Given the description of an element on the screen output the (x, y) to click on. 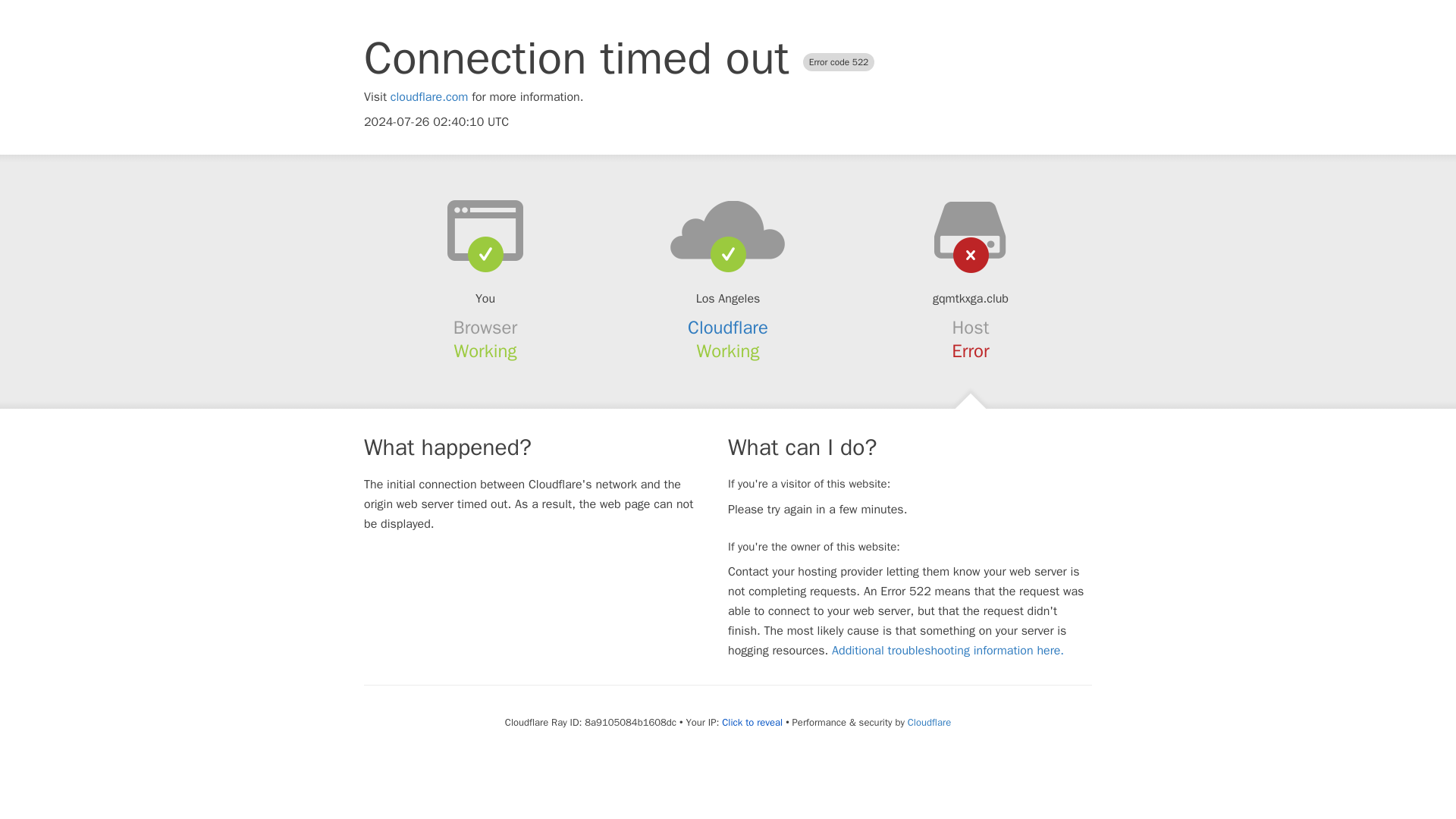
Cloudflare (928, 721)
Cloudflare (727, 327)
Click to reveal (752, 722)
cloudflare.com (429, 96)
Additional troubleshooting information here. (947, 650)
